Given the description of an element on the screen output the (x, y) to click on. 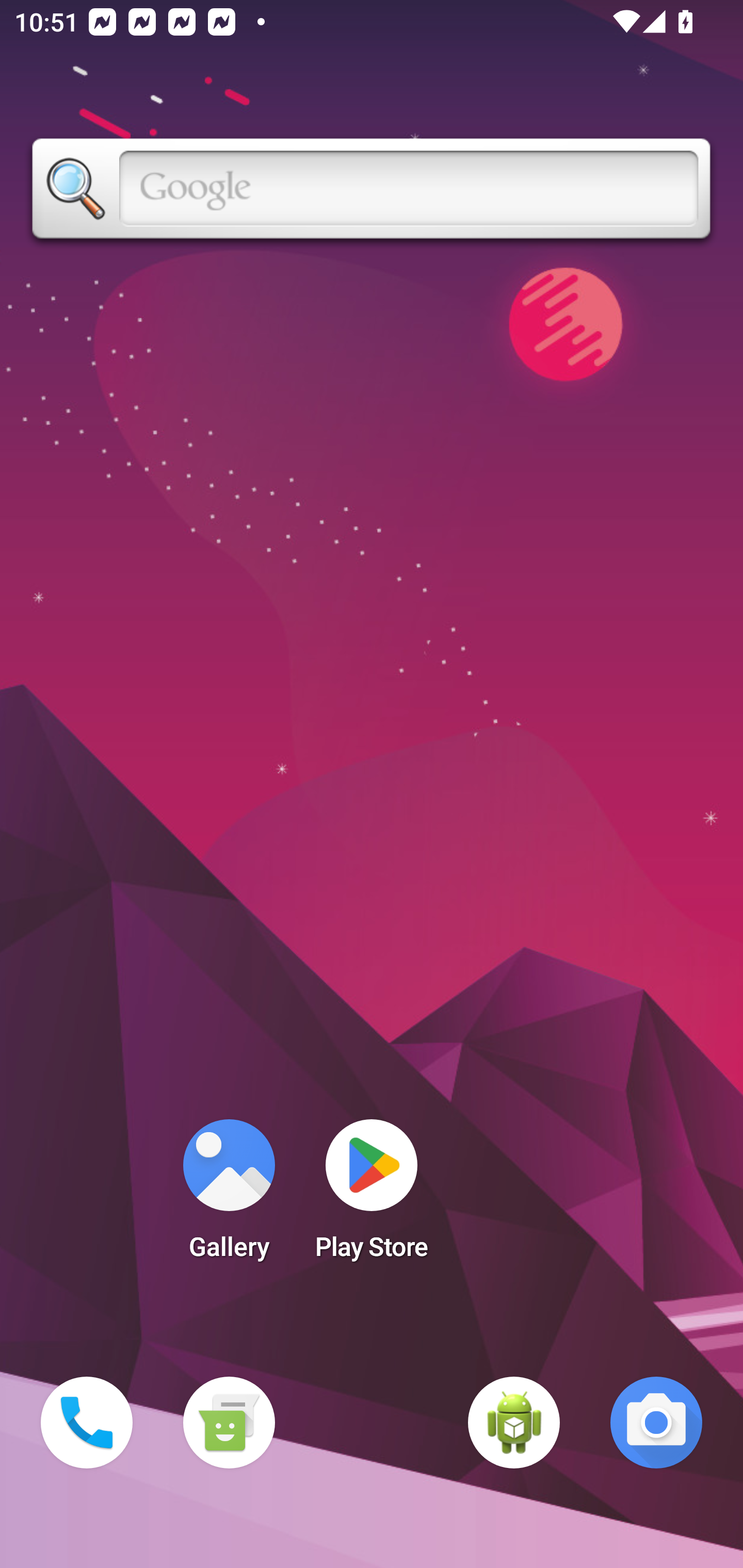
Gallery (228, 1195)
Play Store (371, 1195)
Phone (86, 1422)
Messaging (228, 1422)
WebView Browser Tester (513, 1422)
Camera (656, 1422)
